Given the description of an element on the screen output the (x, y) to click on. 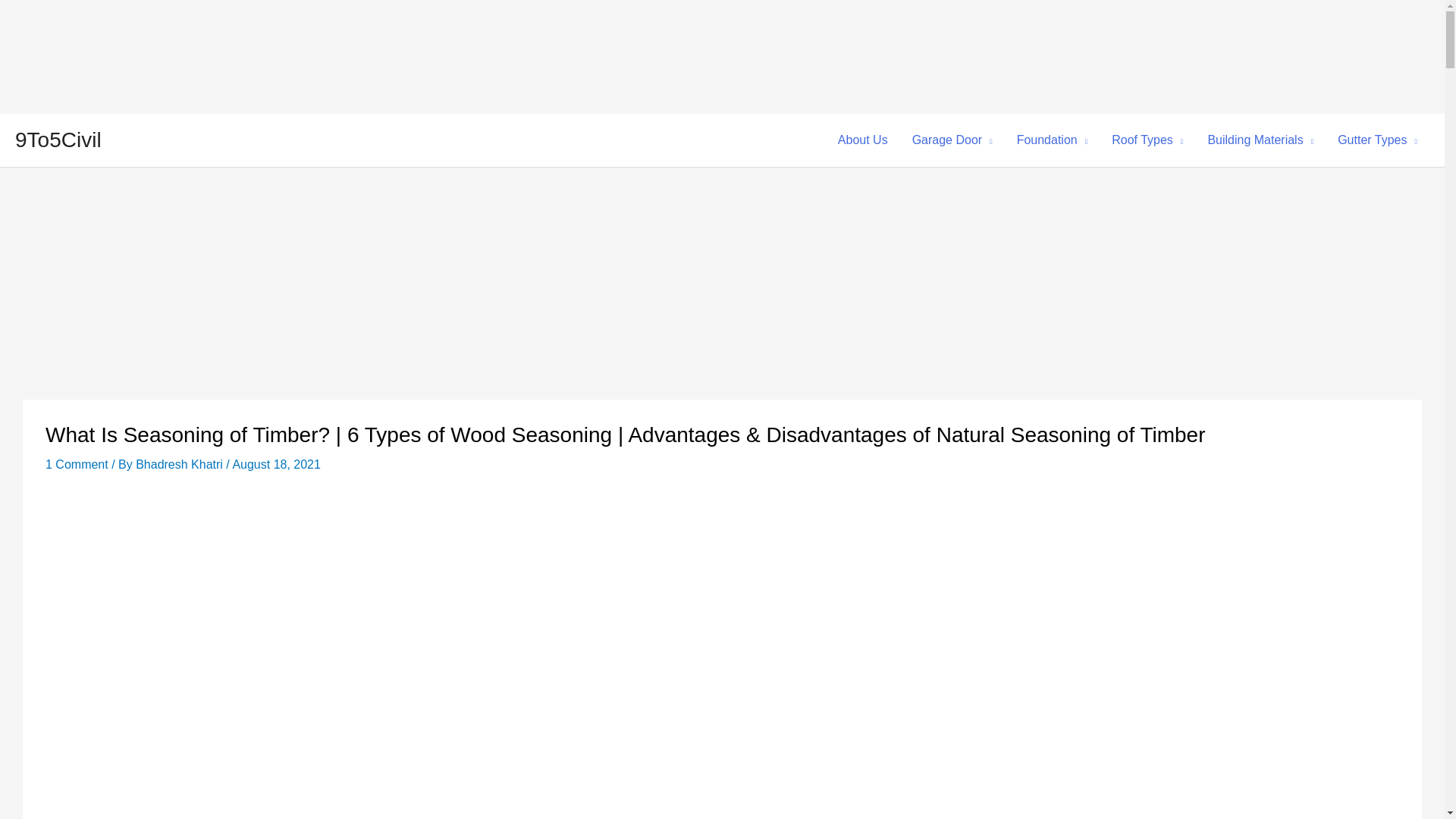
Garage Door (951, 140)
Roof Types (1147, 140)
9To5Civil (57, 139)
Foundation (1052, 140)
Web Analytics (113, 55)
Building Materials (1259, 140)
View all posts by Bhadresh Khatri (180, 463)
About Us (862, 140)
